Given the description of an element on the screen output the (x, y) to click on. 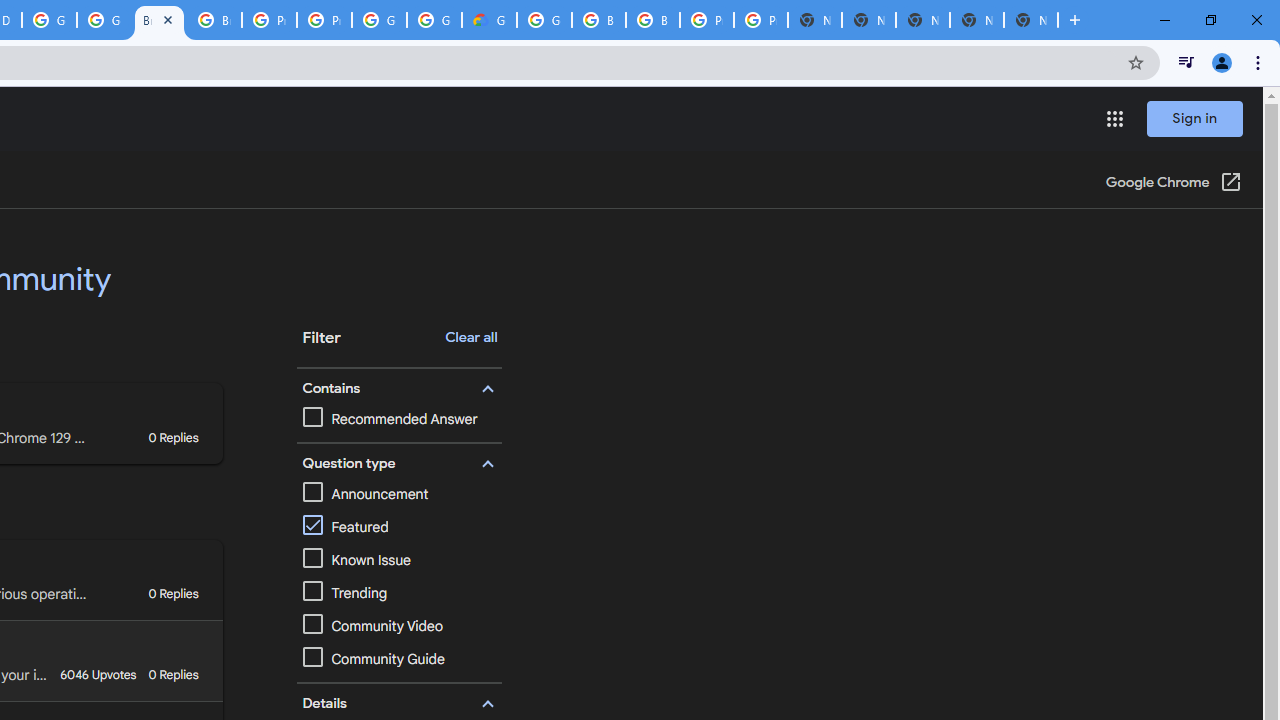
Google Cloud Platform (544, 20)
 Contains filter group  (396, 388)
Announcement (399, 493)
Google Cloud Estimate Summary (489, 20)
Google Chrome (Open in a new window) (1173, 183)
Google Cloud Platform (379, 20)
 Question type filter group  (396, 463)
Google Cloud Platform (48, 20)
New Tab (1030, 20)
